Given the description of an element on the screen output the (x, y) to click on. 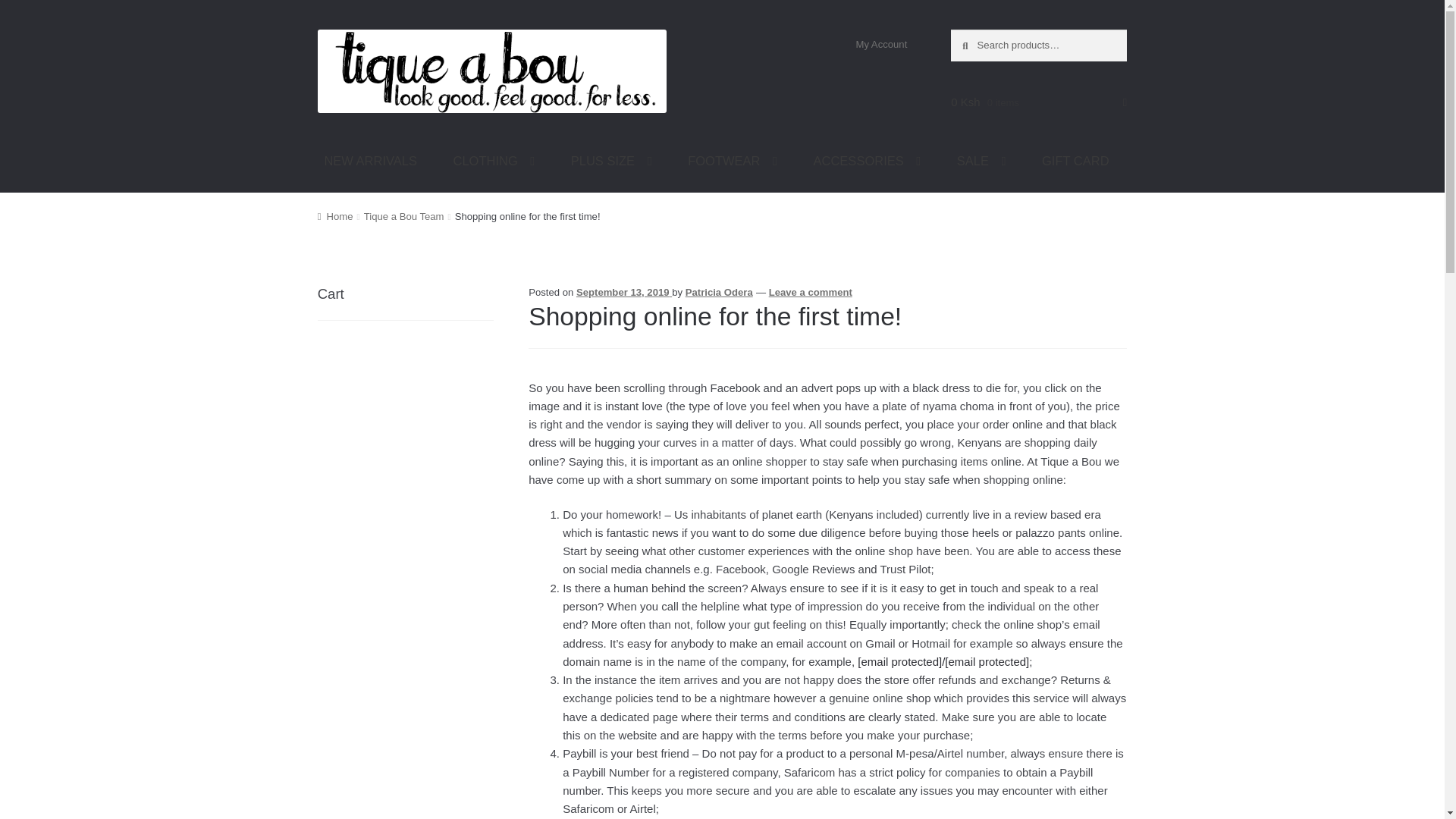
GIFT CARD (1075, 160)
My Account (881, 43)
View your shopping cart (1038, 102)
PLUS SIZE (610, 160)
0 Ksh 0 items (1038, 102)
ACCESSORIES (866, 160)
FOOTWEAR (732, 160)
SALE (980, 160)
CLOTHING (494, 160)
